Given the description of an element on the screen output the (x, y) to click on. 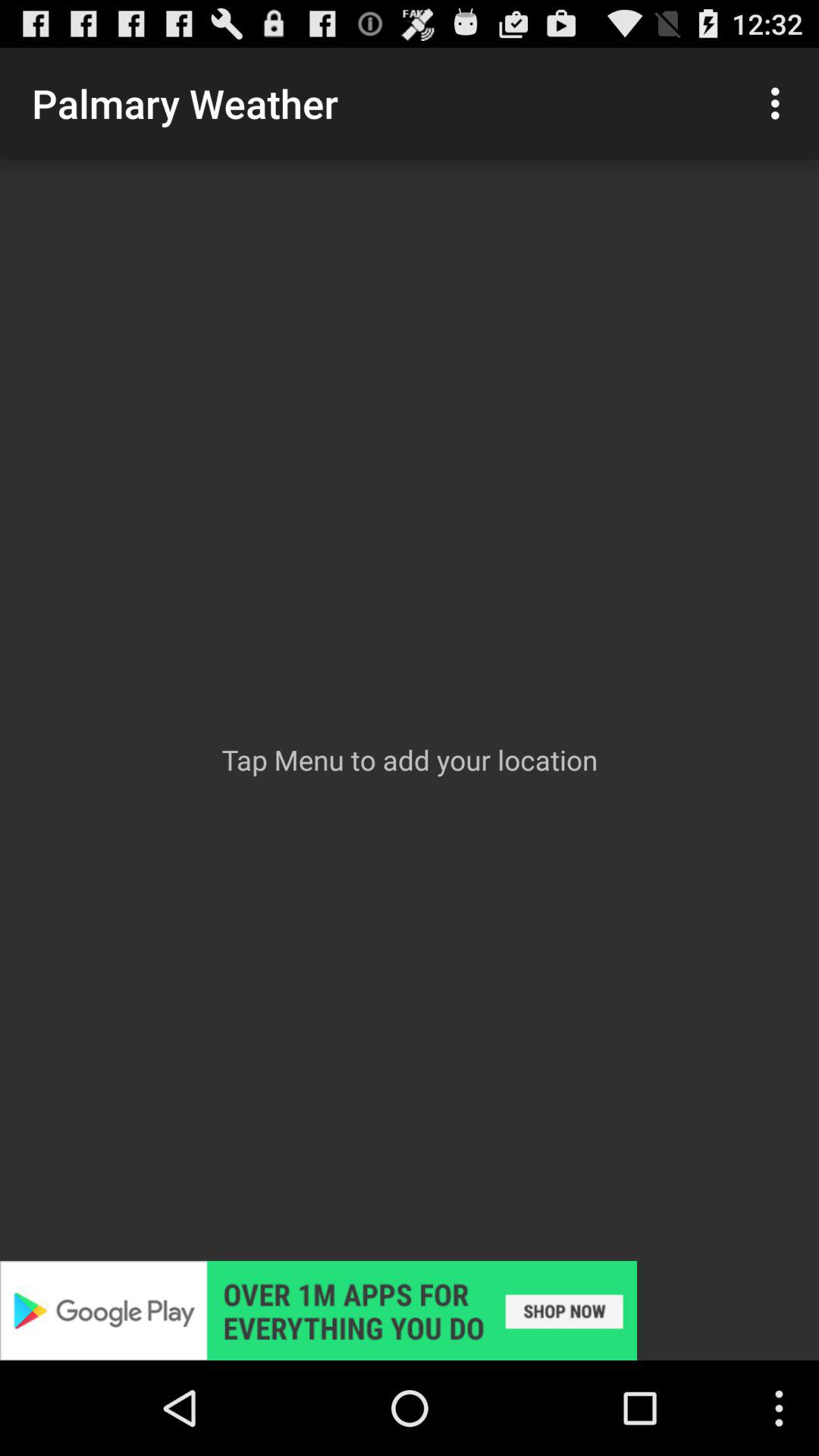
display advertisement (409, 1310)
